Given the description of an element on the screen output the (x, y) to click on. 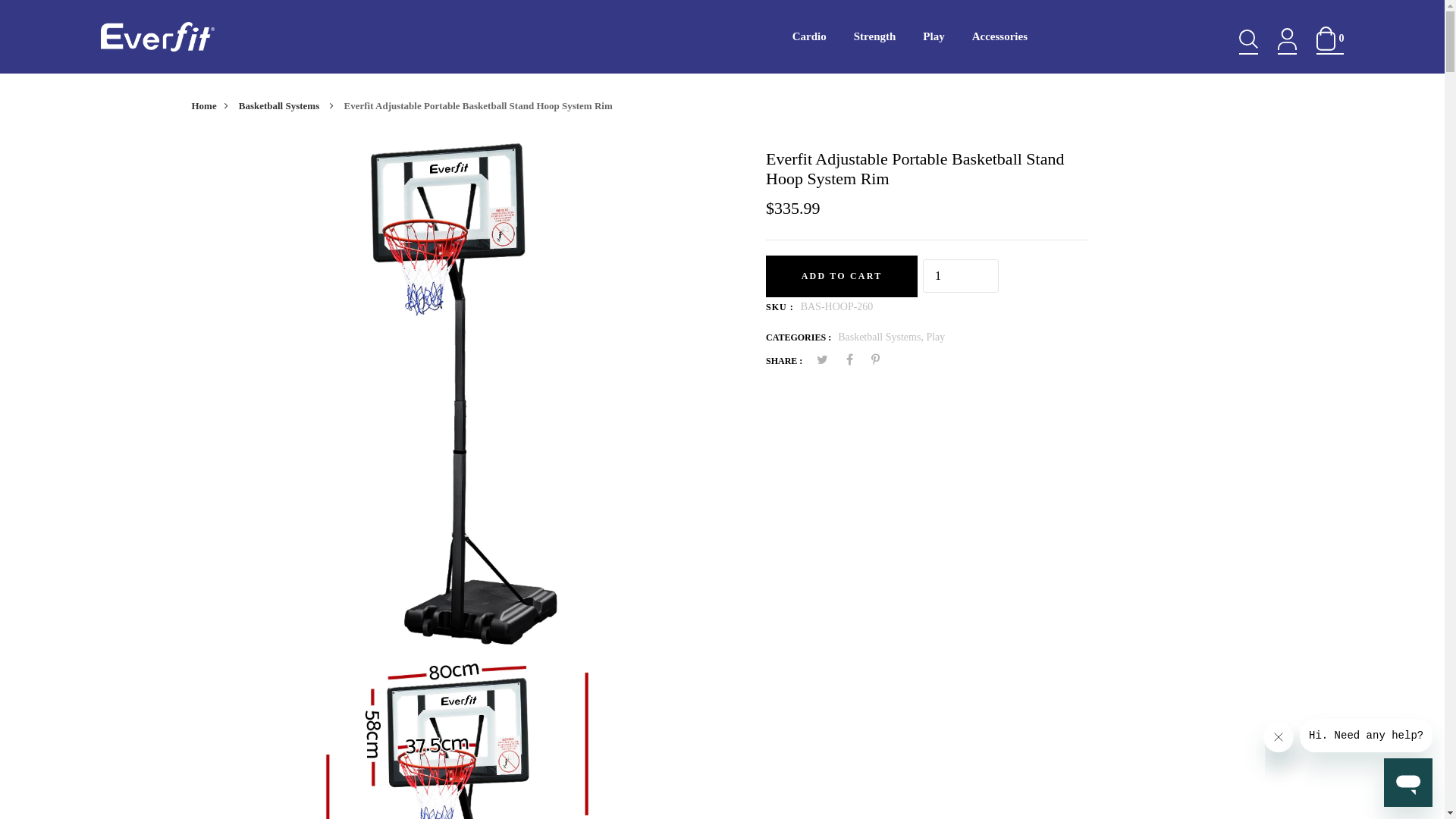
Close message Element type: hover (1278, 736)
Basketball Systems, Element type: text (881, 336)
Basketball Systems Element type: text (289, 105)
ADD TO CART Element type: text (841, 276)
Accessories Element type: text (999, 36)
Home Element type: text (213, 105)
register Element type: text (722, 778)
Qty Element type: hover (960, 275)
Play Element type: text (933, 36)
Strength Element type: text (874, 36)
Message from company Element type: hover (1365, 735)
Log In Element type: text (722, 476)
Button to launch messaging window Element type: hover (1407, 782)
Play Element type: text (934, 336)
Cardio Element type: text (809, 36)
